Given the description of an element on the screen output the (x, y) to click on. 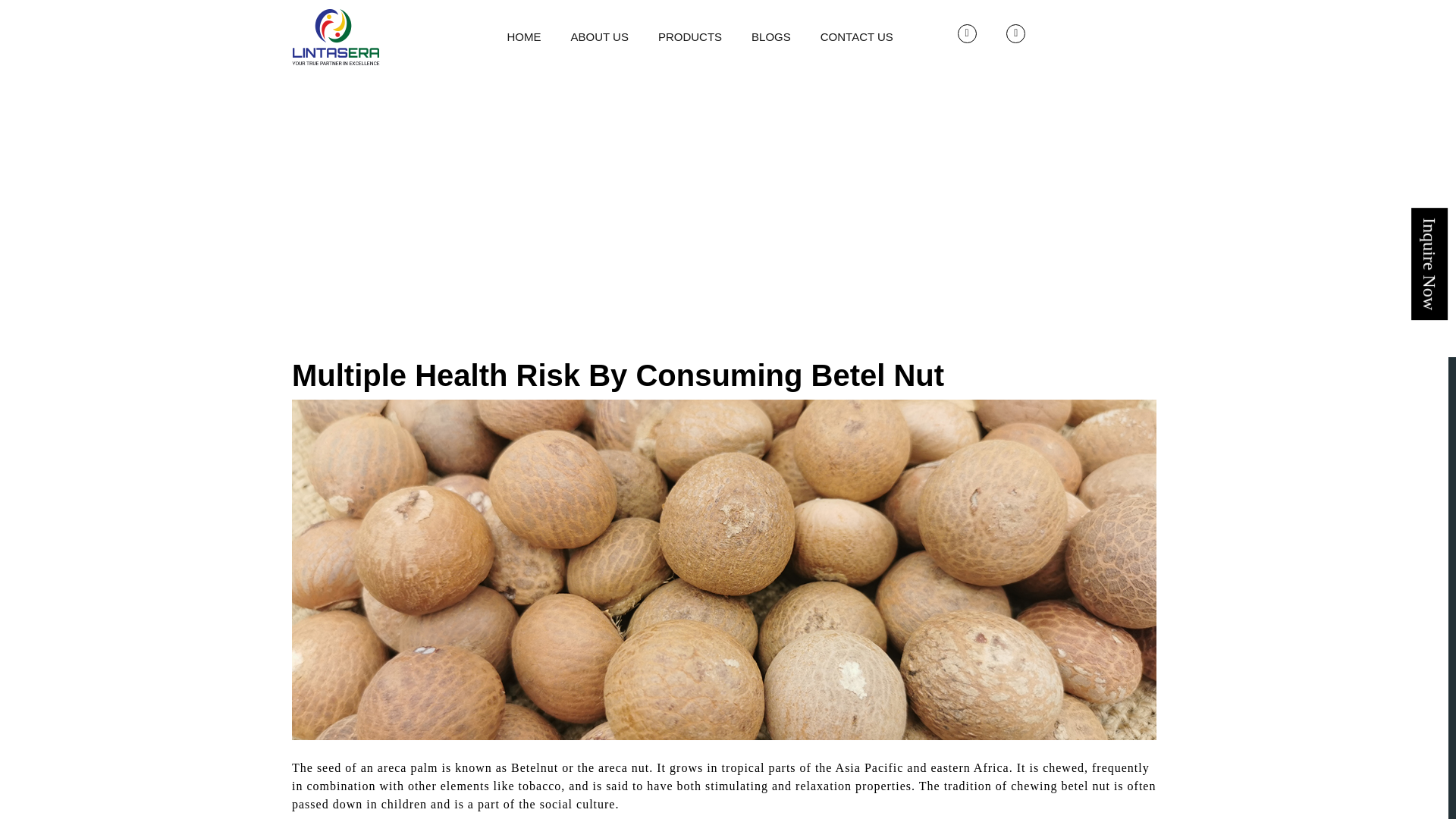
About Us (598, 36)
BLOGS (770, 36)
PRODUCTS (689, 36)
CONTACT US (856, 36)
ABOUT US (598, 36)
Contact Us (856, 36)
Blogs (770, 36)
Products (689, 36)
HOME (523, 36)
Home (523, 36)
